Given the description of an element on the screen output the (x, y) to click on. 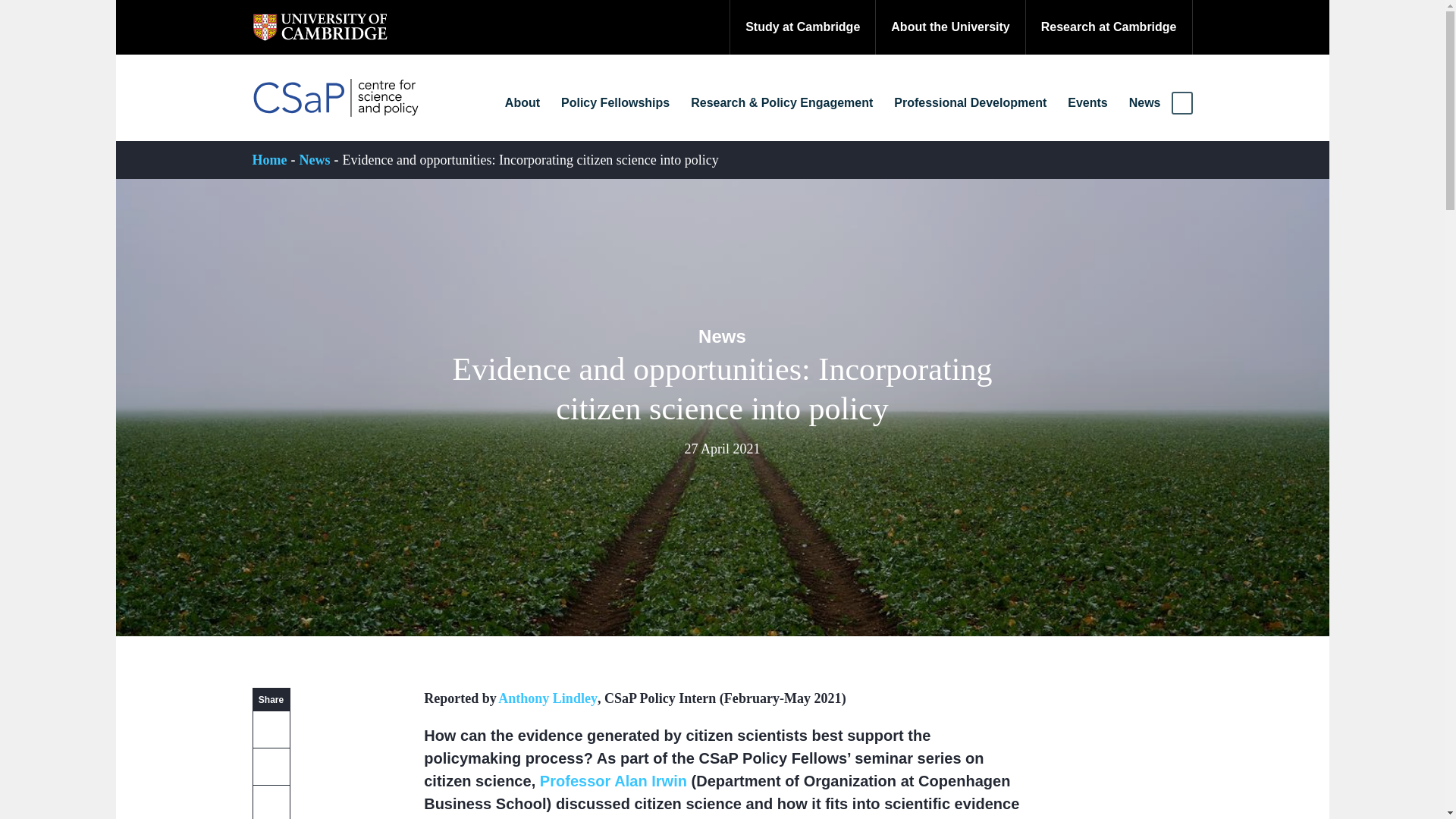
About the University (950, 27)
Events (1086, 102)
Research at Cambridge (1108, 27)
About (522, 102)
Study at Cambridge (802, 27)
Policy Fellowships (614, 102)
Professional Development (970, 102)
